Given the description of an element on the screen output the (x, y) to click on. 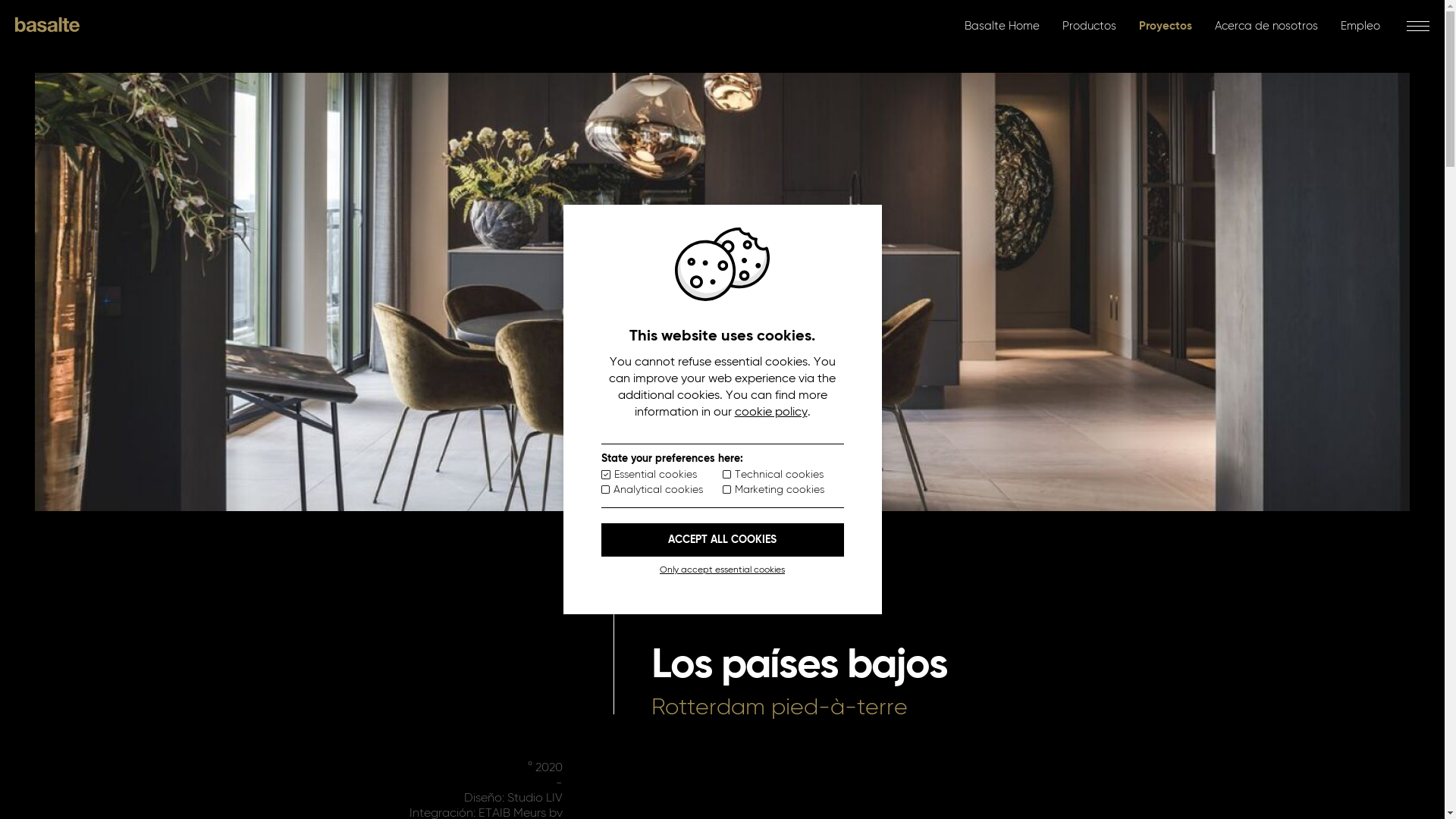
ACCEPT ALL COOKIES Element type: text (721, 539)
Productos Element type: text (1089, 25)
Proyectos Element type: text (1165, 25)
Basalte Home Element type: text (1002, 25)
cookie policy Element type: text (770, 412)
Empleo Element type: text (1360, 25)
Only accept essential cookies Element type: text (721, 570)
Acerca de nosotros Element type: text (1266, 25)
